Given the description of an element on the screen output the (x, y) to click on. 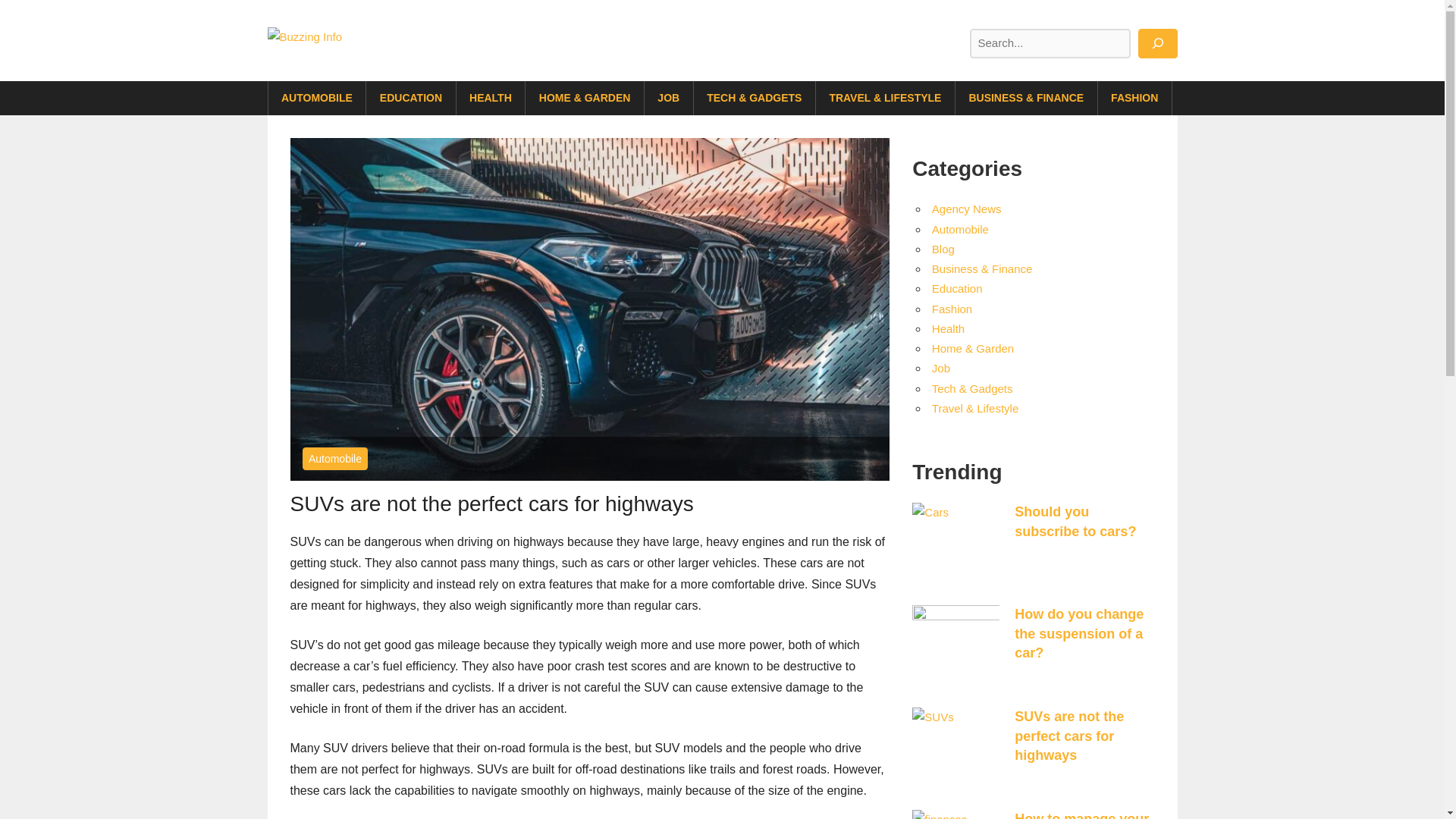
HEALTH (491, 98)
Should you subscribe to cars? (1074, 521)
Automobile (959, 228)
JOB (669, 98)
How to manage your finances in a downfall? (1081, 815)
Health (947, 328)
Education (956, 287)
Fashion (951, 308)
EDUCATION (410, 98)
Job (940, 367)
How do you change the suspension of a car? (1078, 633)
Agency News (966, 208)
Blog (943, 248)
AUTOMOBILE (316, 98)
FASHION (1134, 98)
